Given the description of an element on the screen output the (x, y) to click on. 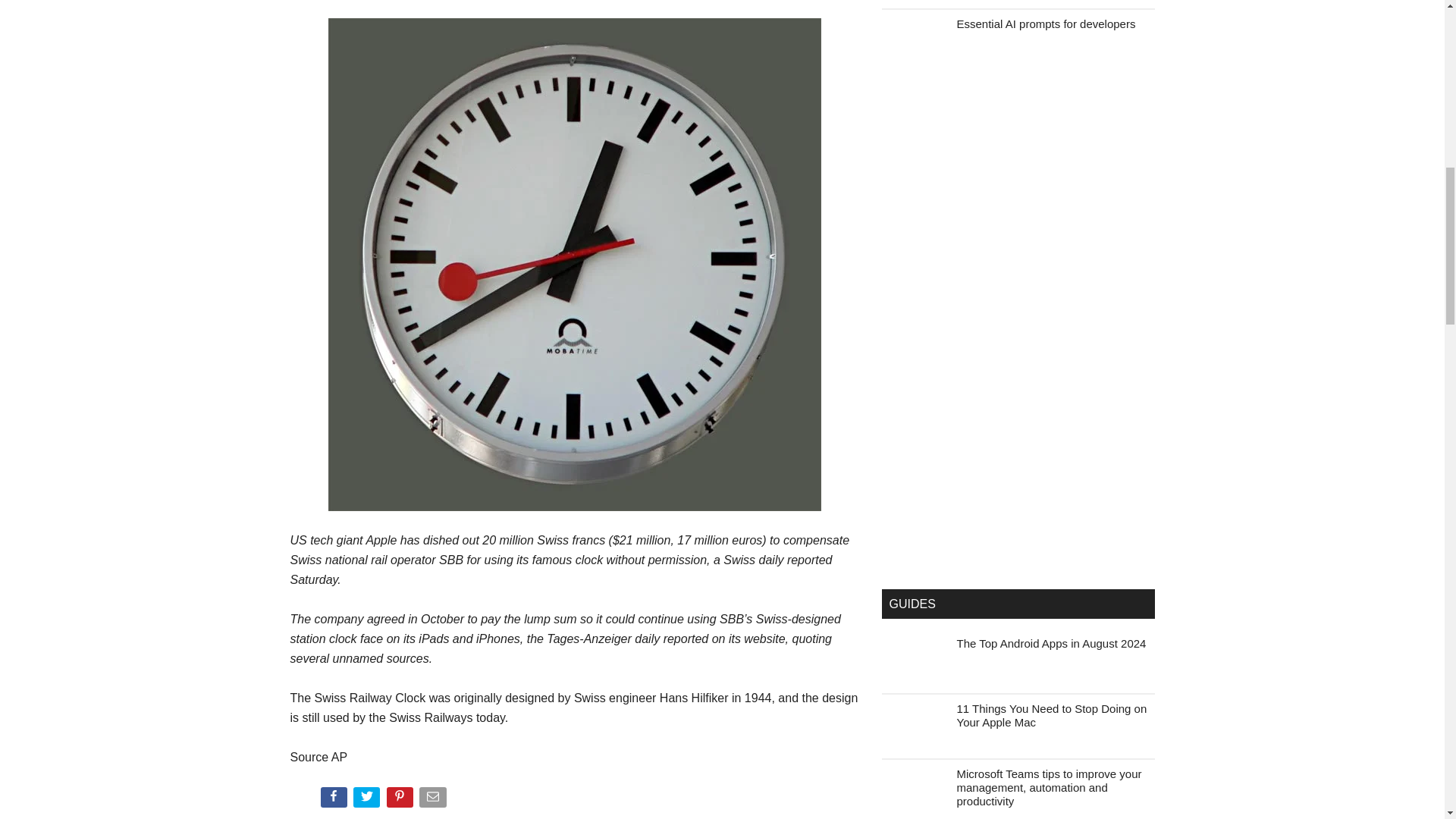
Tweet (367, 800)
Email (433, 800)
Pin (401, 800)
Share on Facebook (334, 800)
Essential AI prompts for developers (1045, 23)
